Given the description of an element on the screen output the (x, y) to click on. 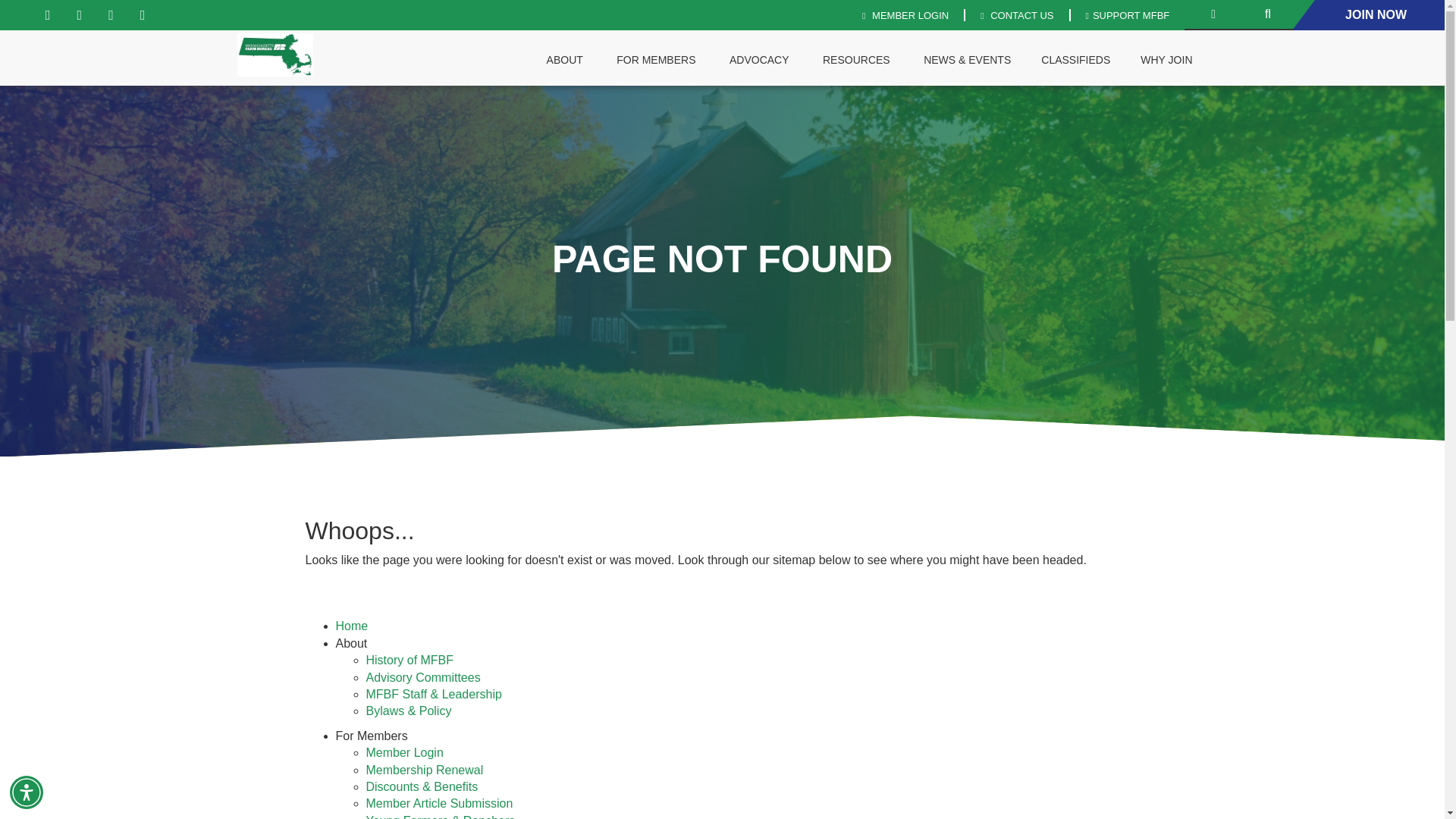
ABOUT (564, 60)
CLASSIFIEDS (1075, 61)
Accessibility Menu (26, 792)
WHY JOIN (1166, 61)
SUPPORT MFBF (1127, 15)
FOR MEMBERS (655, 60)
History of MFBF (408, 659)
ADVOCACY (759, 60)
RESOURCES (856, 60)
WHY JOIN (1166, 61)
Home (351, 625)
CLASSIFIEDS (1075, 61)
Advisory Committees (422, 676)
